Given the description of an element on the screen output the (x, y) to click on. 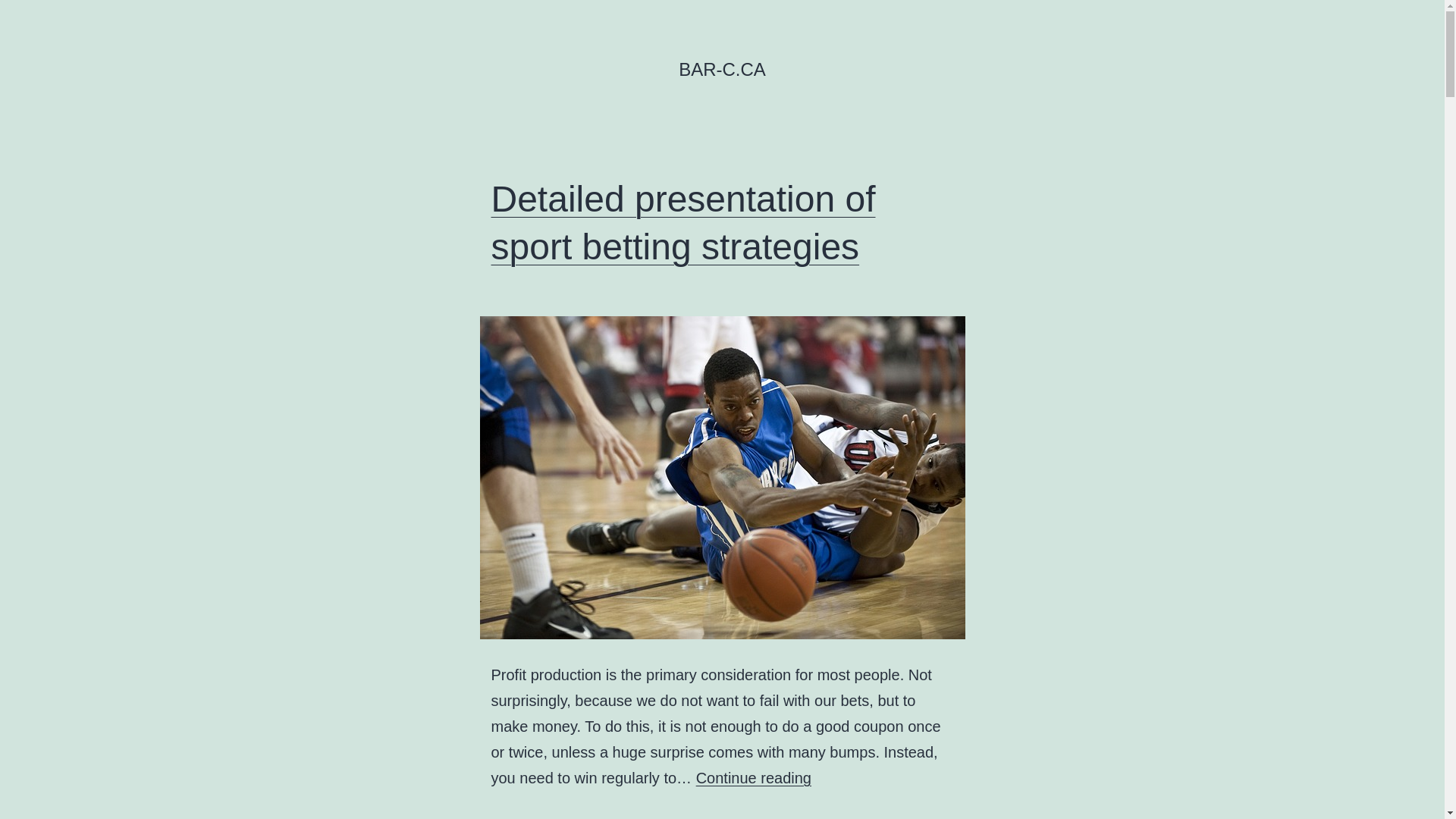
Detailed presentation of sport betting strategies Element type: text (683, 222)
